Given the description of an element on the screen output the (x, y) to click on. 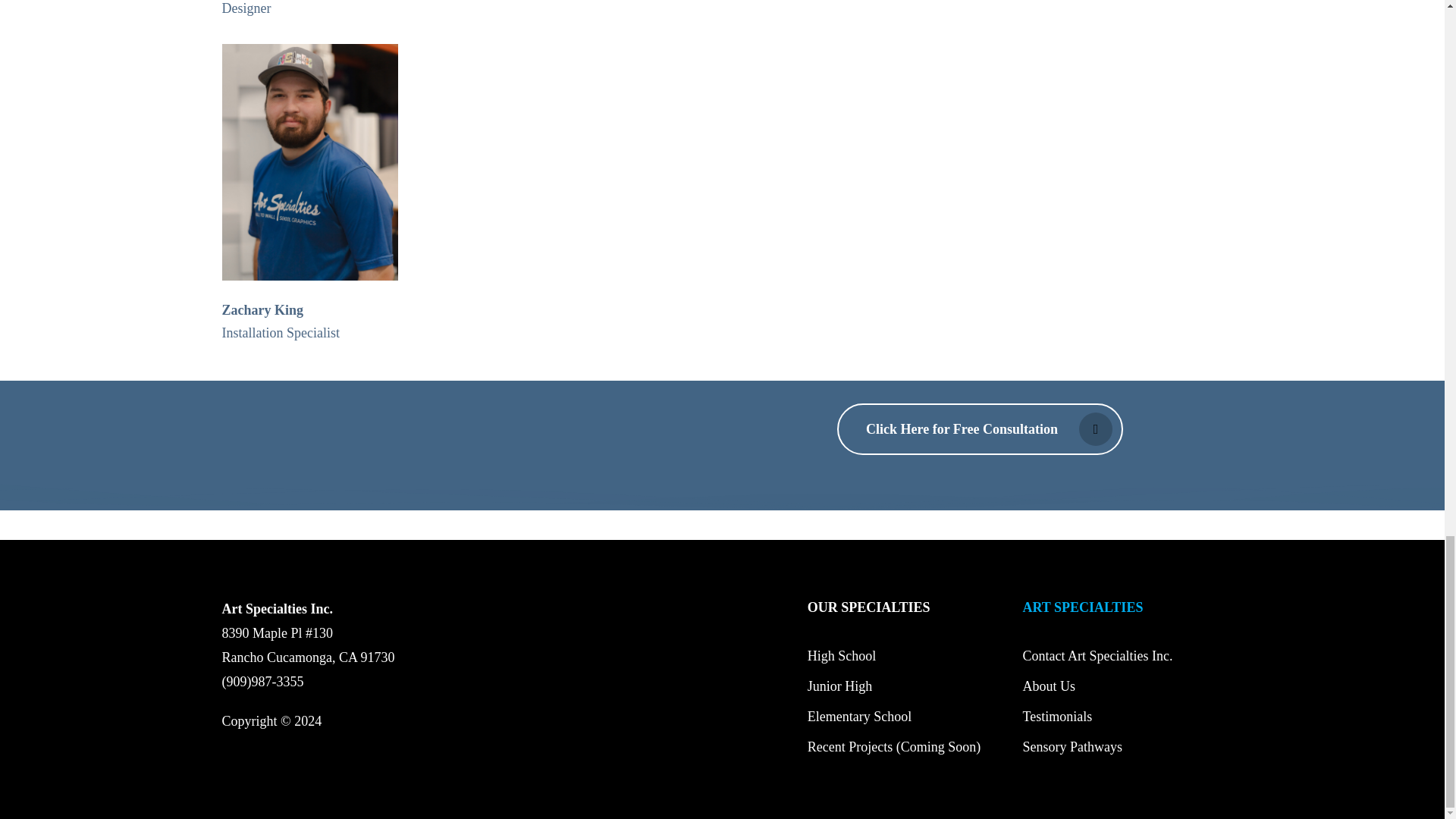
Contact Art Specialties Inc. (1097, 655)
Sensory Pathways (1072, 746)
About Us (1048, 685)
High School (842, 655)
Elementary School (859, 716)
Click Here for Free Consultation (979, 429)
OUR SPECIALTIES (869, 607)
Testimonials (1057, 716)
Junior High (840, 685)
